Given the description of an element on the screen output the (x, y) to click on. 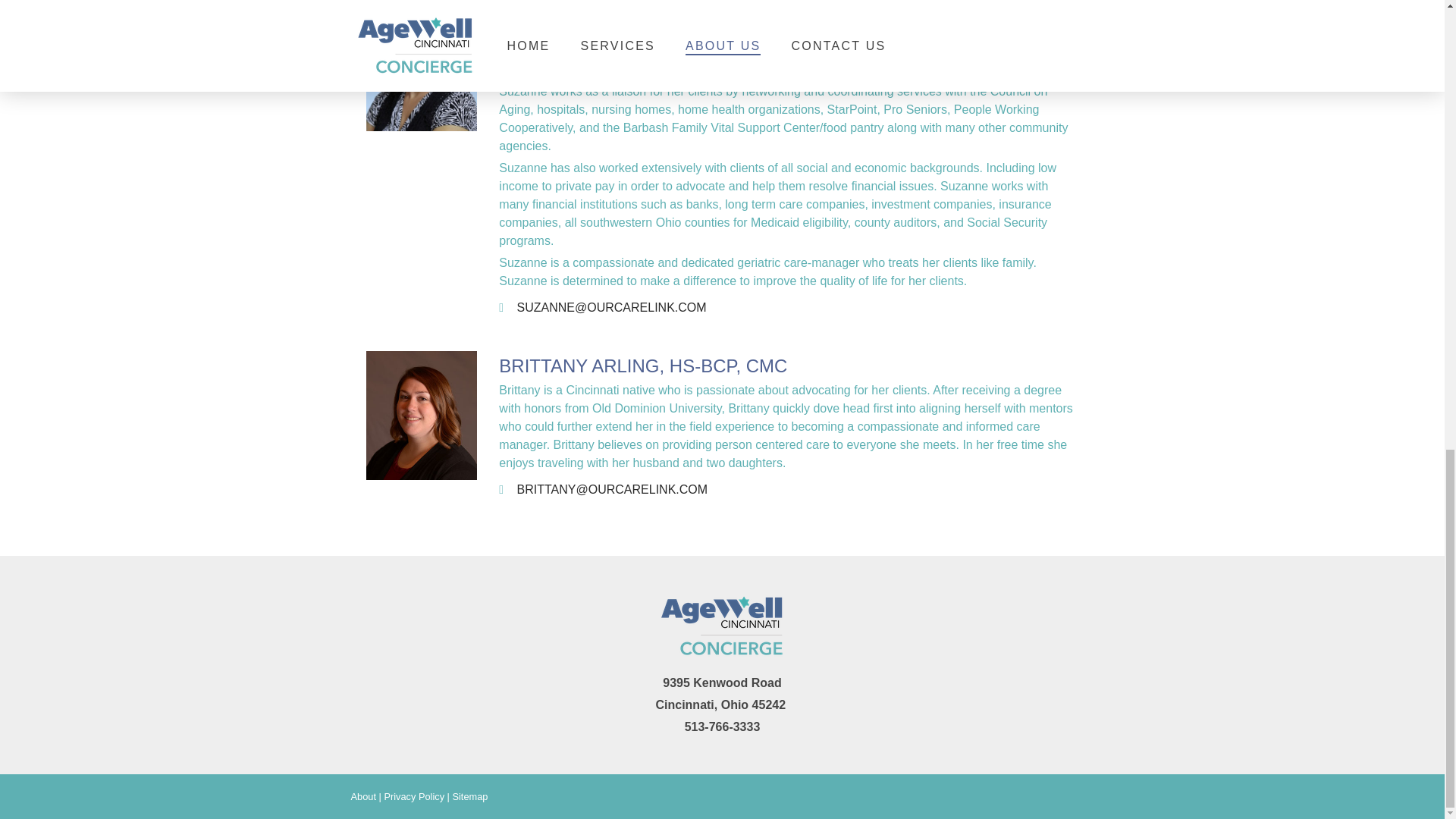
About (362, 796)
tel:5137663333 (722, 726)
513-766-3333 (722, 726)
Privacy Policy (414, 796)
Sitemap (469, 796)
